Given the description of an element on the screen output the (x, y) to click on. 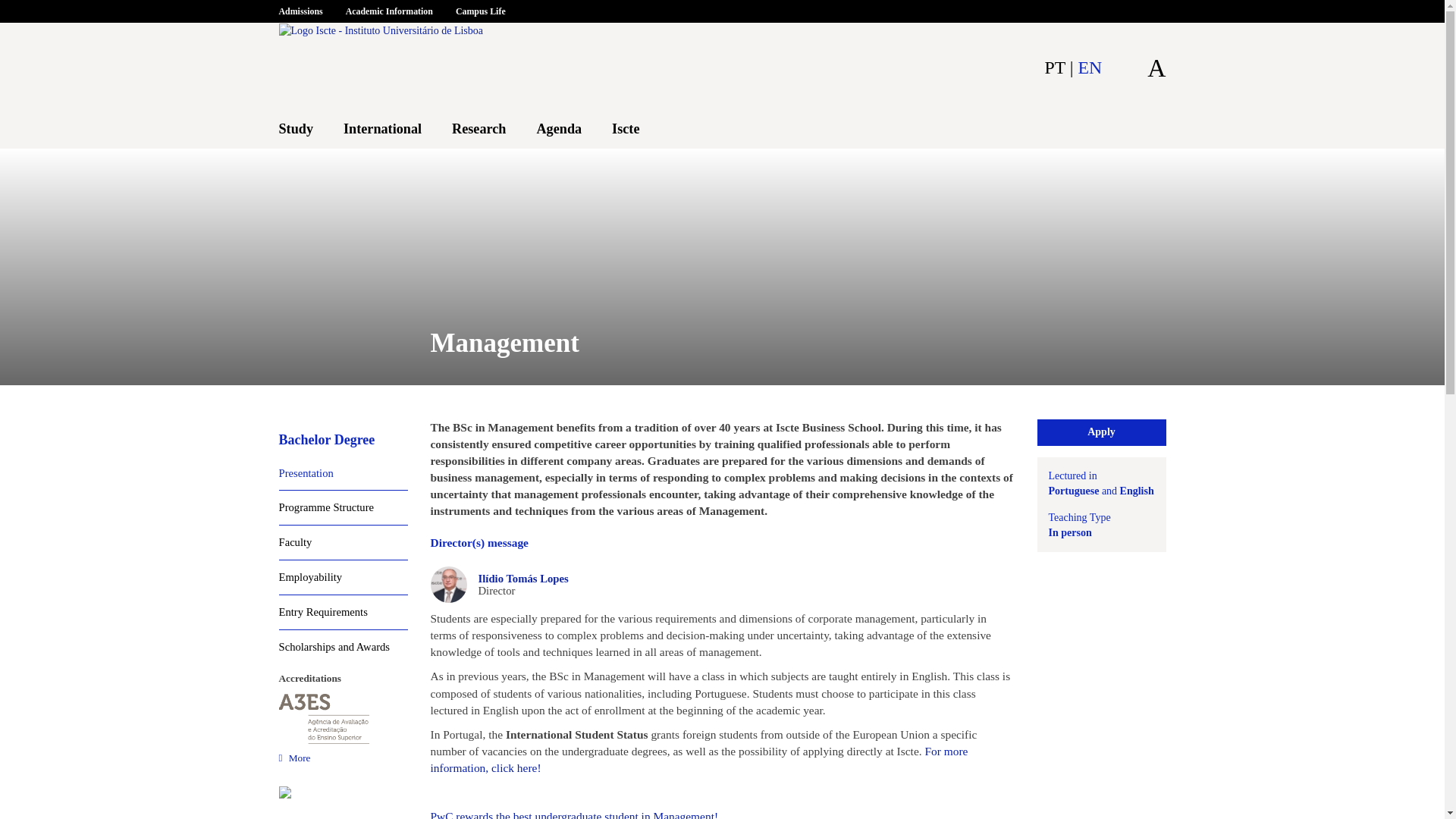
International (382, 128)
PT (1053, 66)
Campus Life (480, 14)
Study (295, 128)
Academic Information (389, 14)
Admissions (306, 14)
EN (1090, 66)
